Given the description of an element on the screen output the (x, y) to click on. 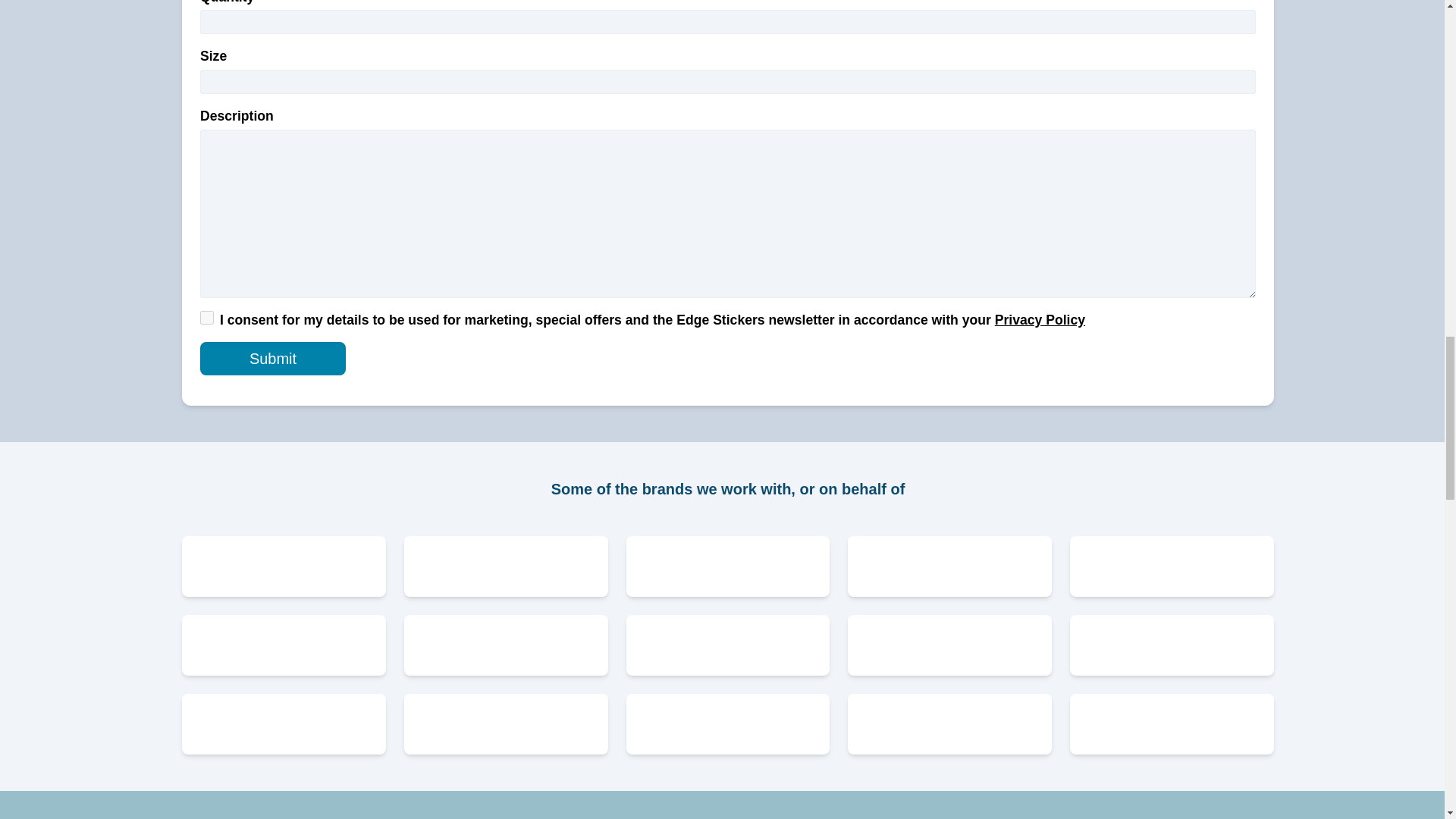
1 (207, 317)
Submit (273, 358)
